Given the description of an element on the screen output the (x, y) to click on. 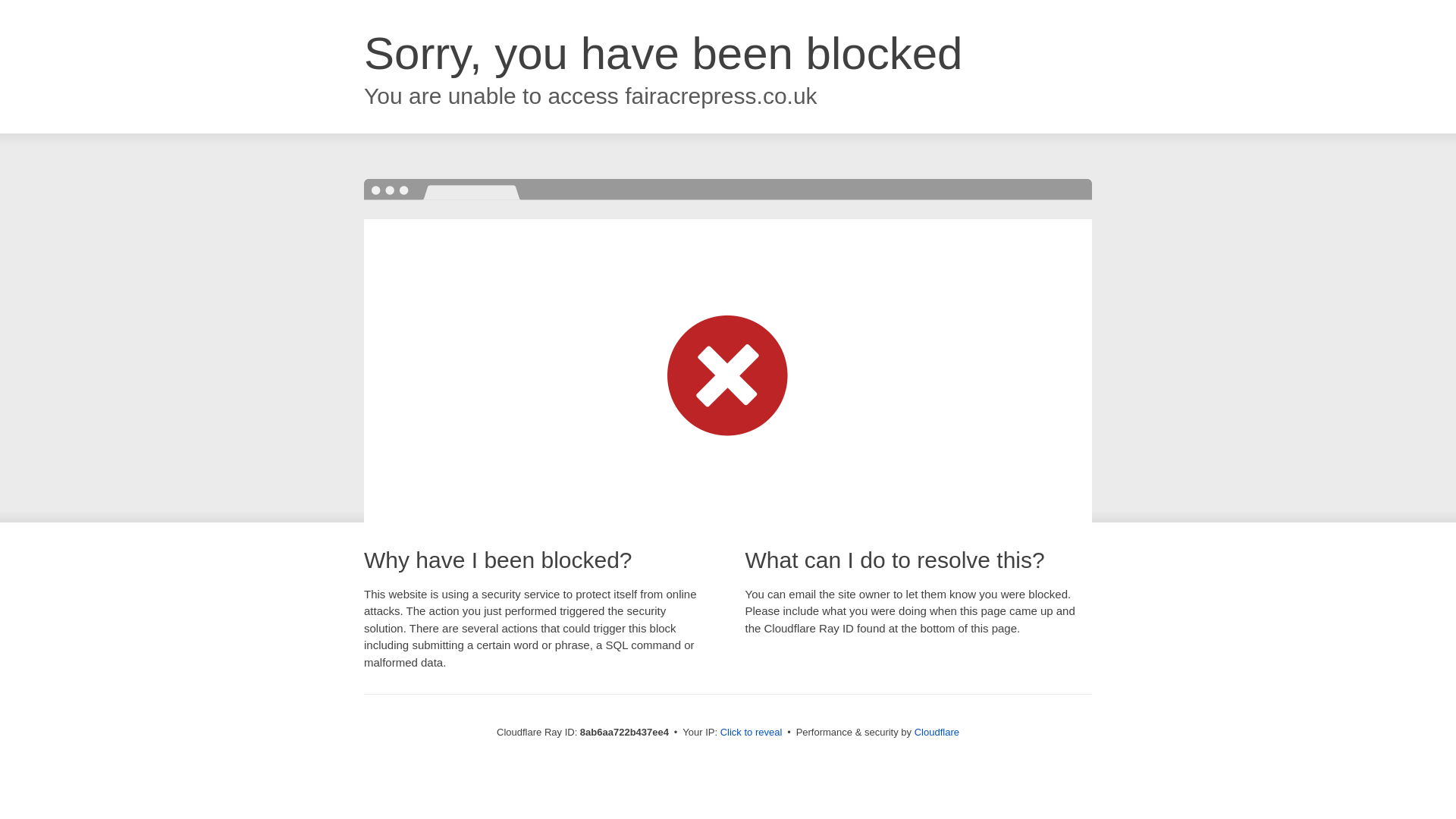
Click to reveal (751, 732)
Cloudflare (936, 731)
